Given the description of an element on the screen output the (x, y) to click on. 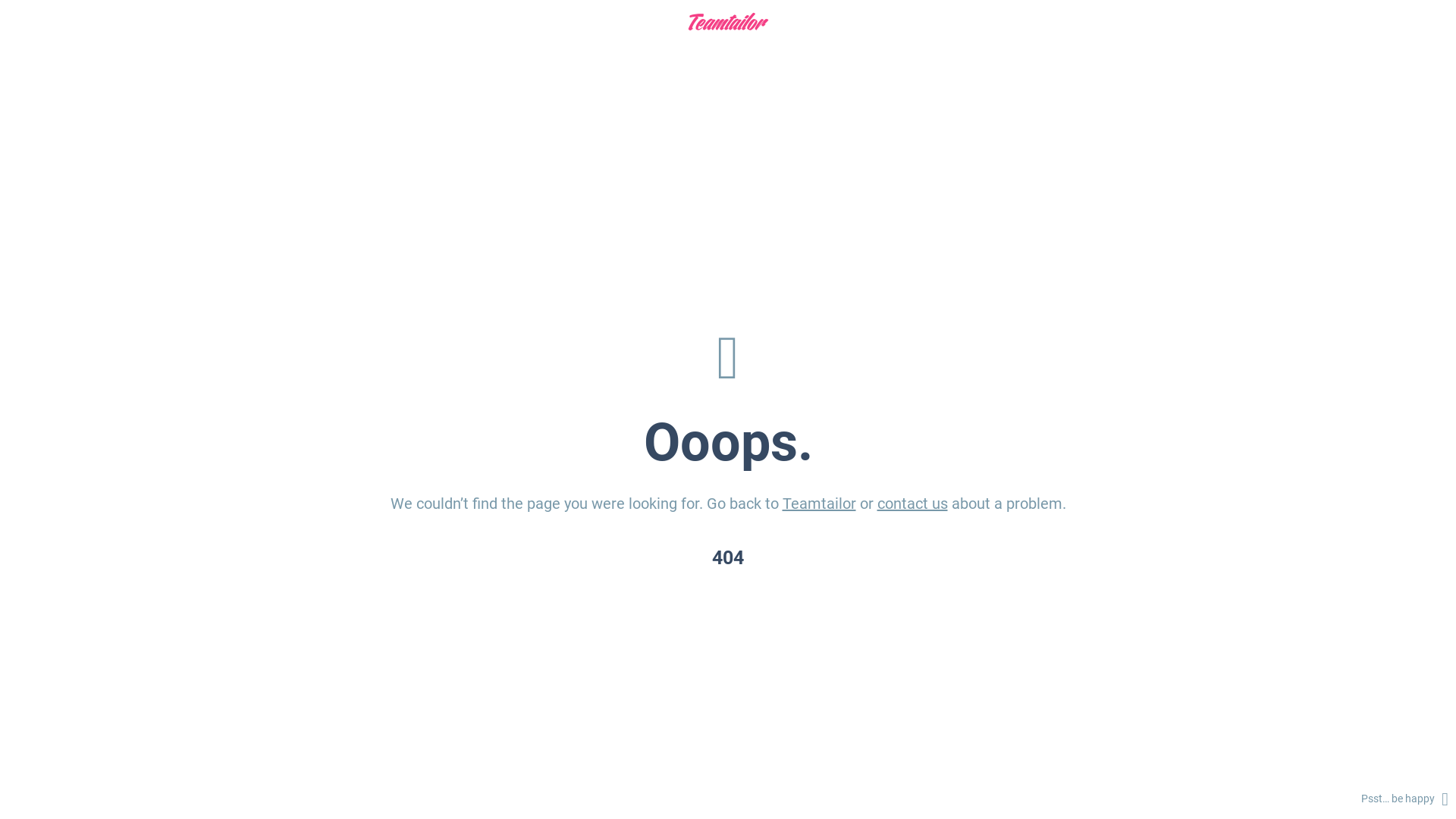
Teamtailor Element type: text (819, 503)
contact us Element type: text (911, 503)
